Given the description of an element on the screen output the (x, y) to click on. 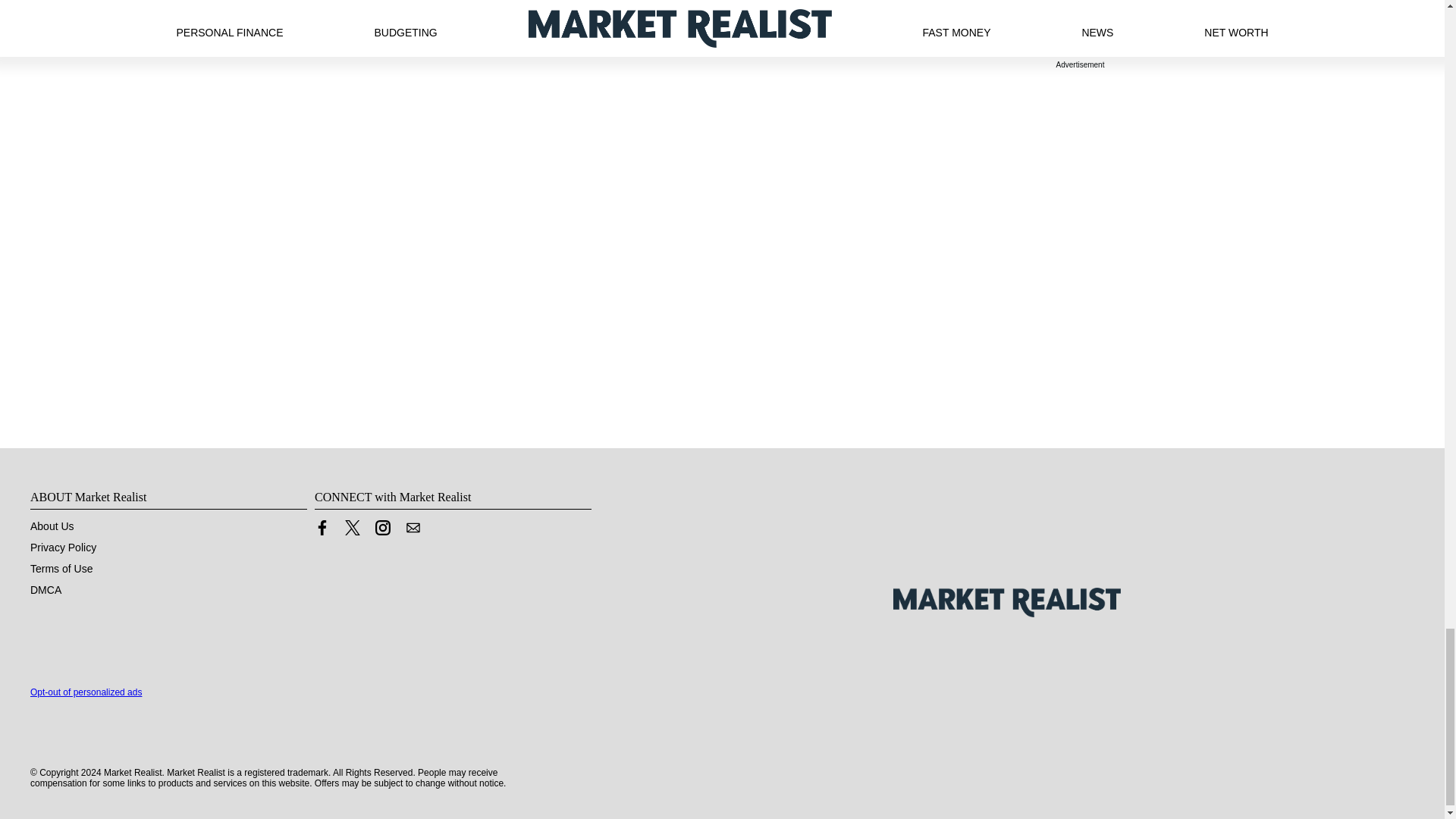
Link to Instagram (382, 527)
DMCA (45, 589)
Link to Facebook (322, 527)
Link to Facebook (322, 531)
Link to Instagram (382, 531)
About Us (52, 526)
Contact us by Email (413, 527)
Opt-out of personalized ads (85, 692)
About Us (52, 526)
Link to X (352, 531)
